Given the description of an element on the screen output the (x, y) to click on. 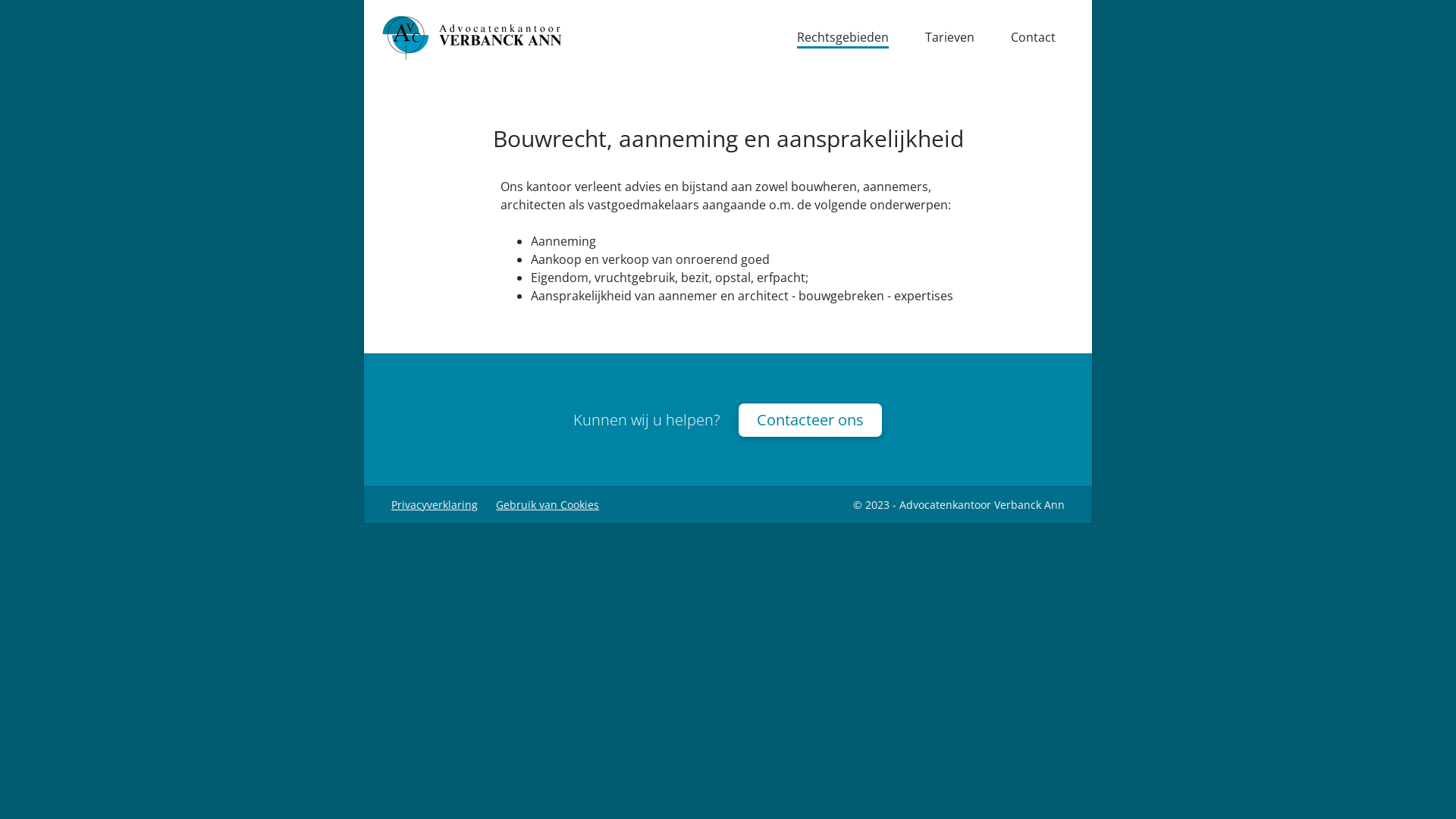
Contact Element type: text (1032, 37)
Tarieven Element type: text (949, 37)
Gebruik van Cookies Element type: text (547, 504)
Rechtsgebieden Element type: text (842, 37)
Contacteer ons Element type: text (809, 418)
Privacyverklaring Element type: text (434, 504)
